Given the description of an element on the screen output the (x, y) to click on. 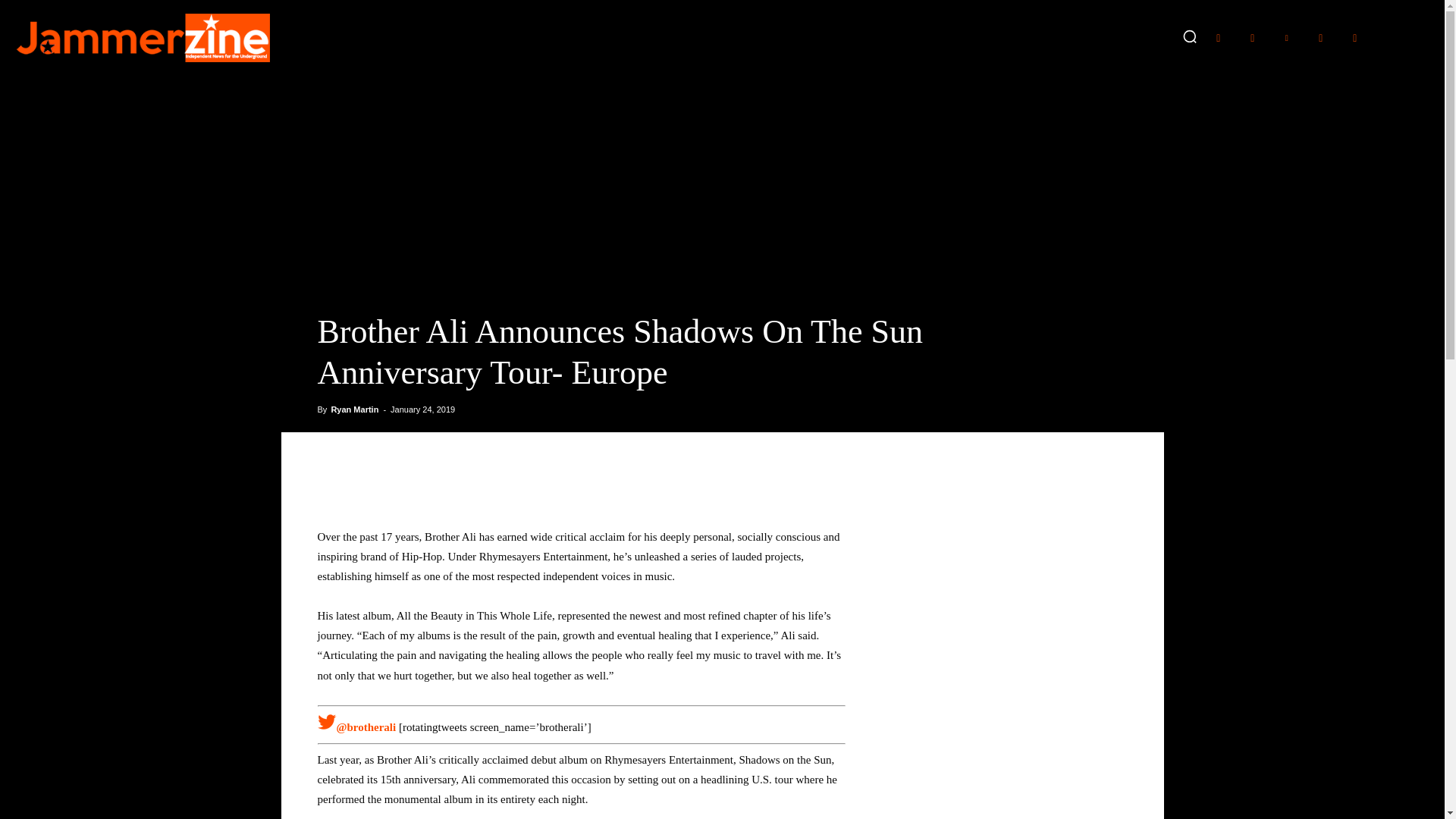
Jammerzine (141, 37)
